Given the description of an element on the screen output the (x, y) to click on. 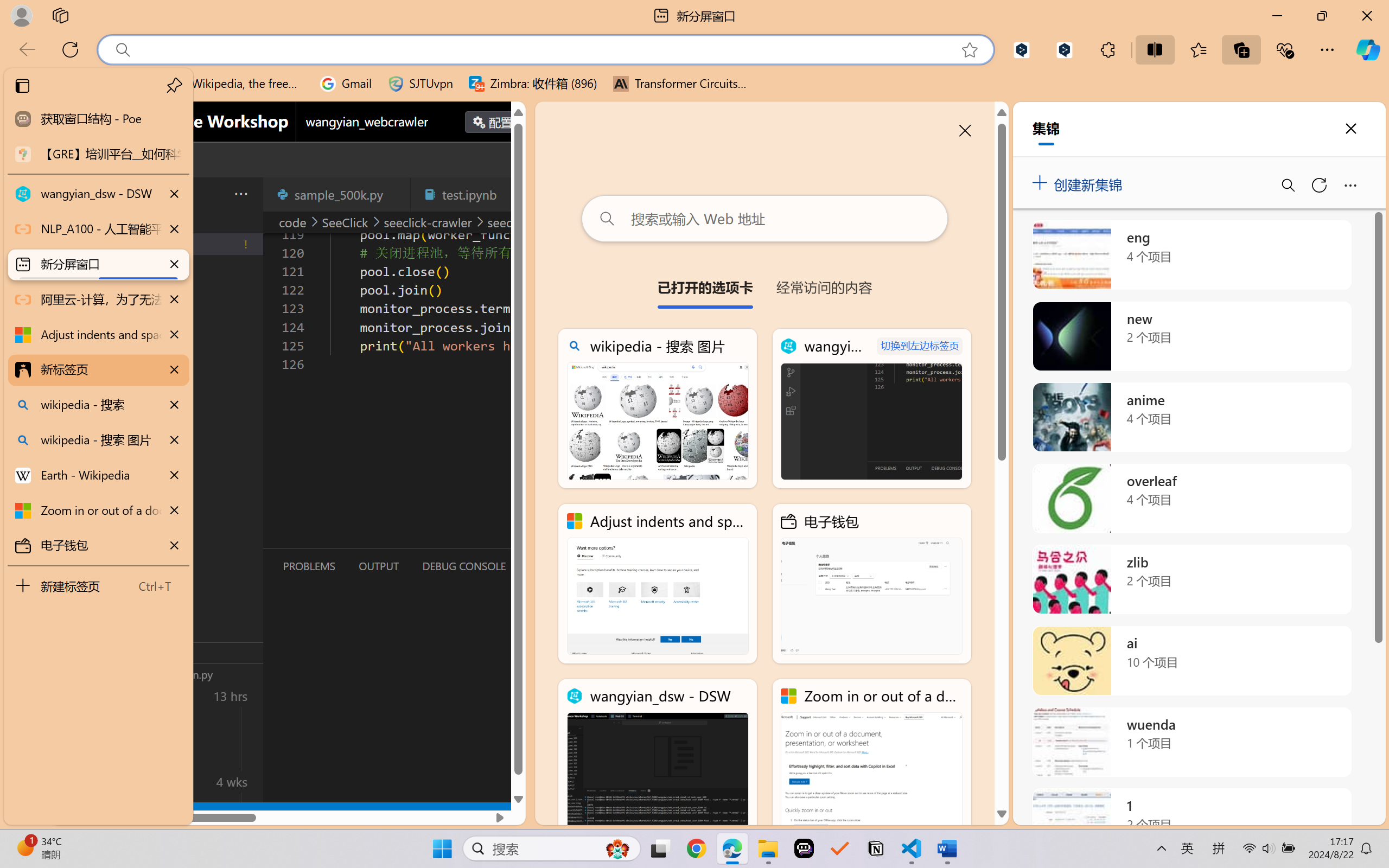
Application Menu (73, 194)
Explorer Section: wangyian (179, 221)
Earth - Wikipedia (97, 475)
Extensions (Ctrl+Shift+X) (73, 422)
